Given the description of an element on the screen output the (x, y) to click on. 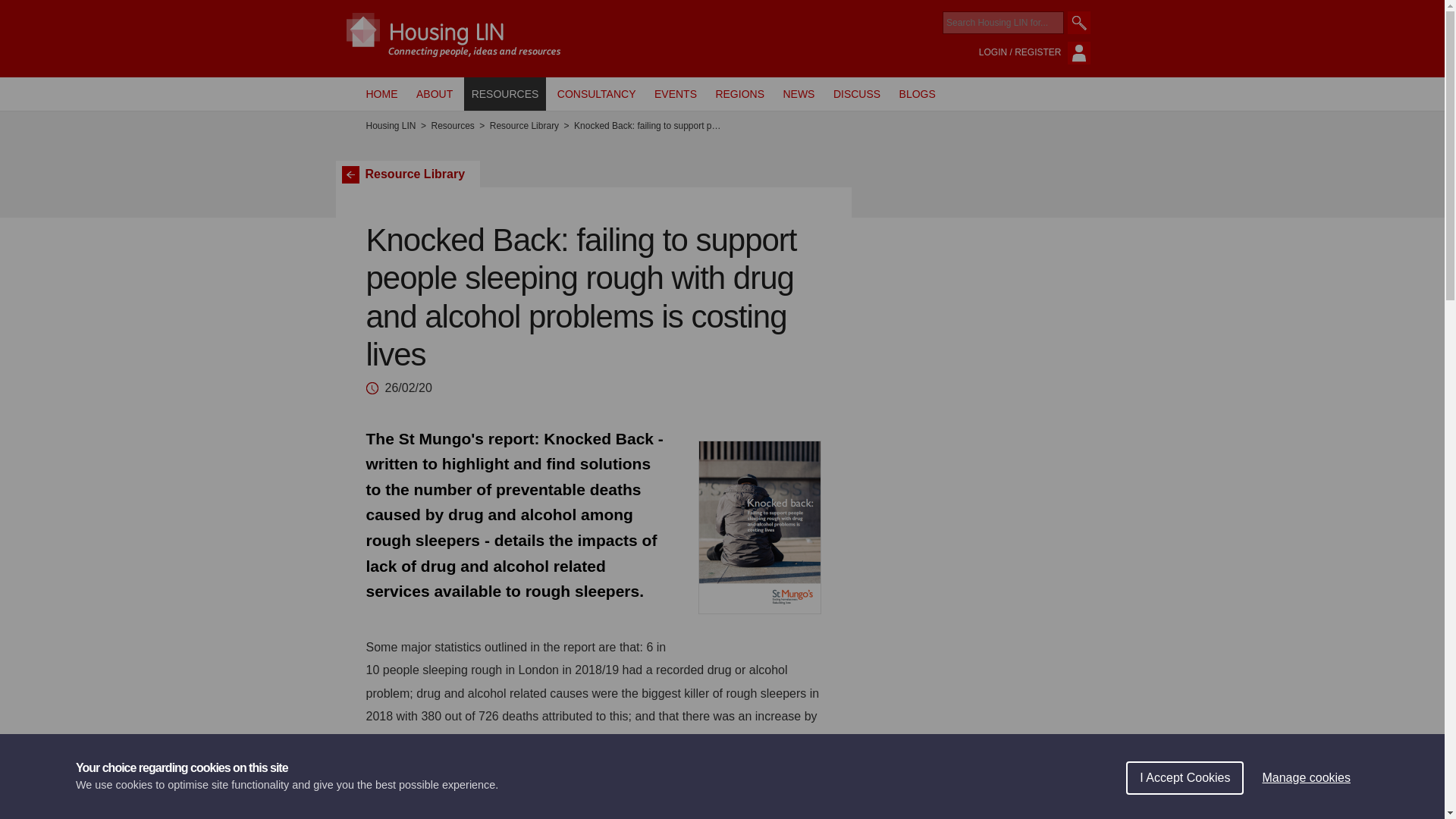
EVENTS (675, 93)
HOME (381, 93)
Resource Library (407, 173)
Housing LIN (389, 126)
Resources (452, 126)
CONSULTANCY (596, 93)
NEWS (798, 93)
ABOUT (434, 93)
Resource Library (524, 126)
Home (389, 126)
RESOURCES (505, 93)
BLOGS (917, 93)
REGIONS (739, 93)
DISCUSS (856, 93)
